Given the description of an element on the screen output the (x, y) to click on. 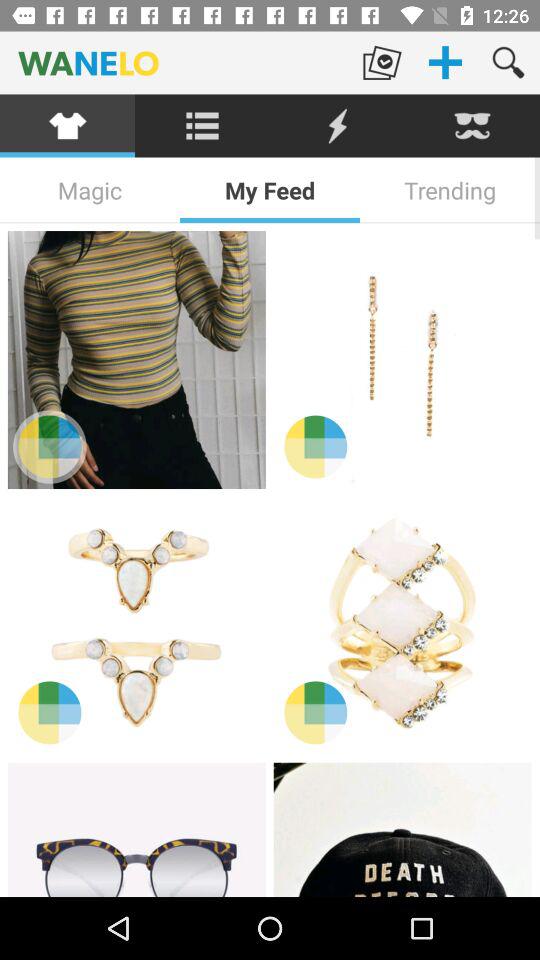
view item (402, 625)
